Given the description of an element on the screen output the (x, y) to click on. 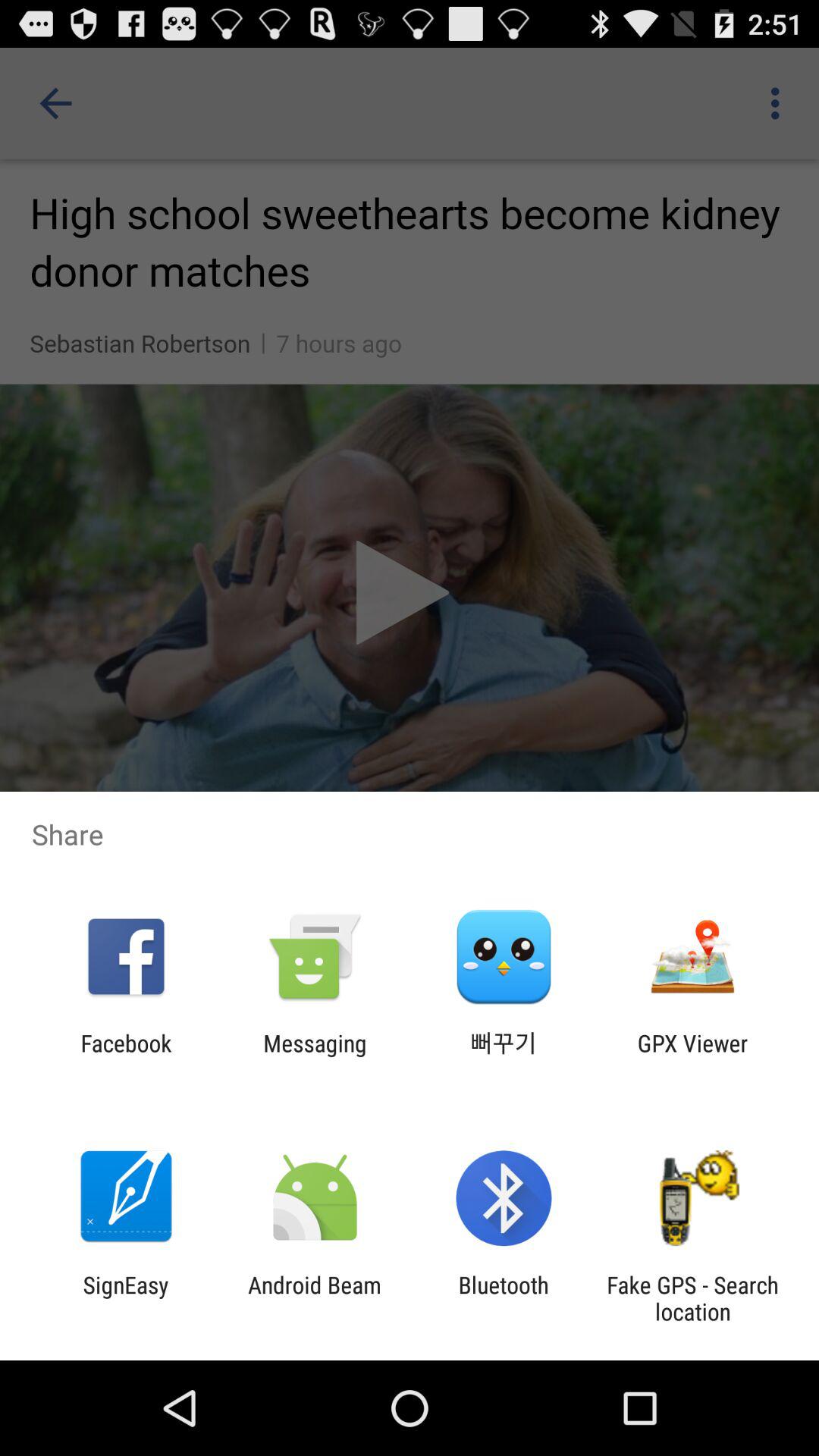
press the messaging icon (314, 1056)
